Given the description of an element on the screen output the (x, y) to click on. 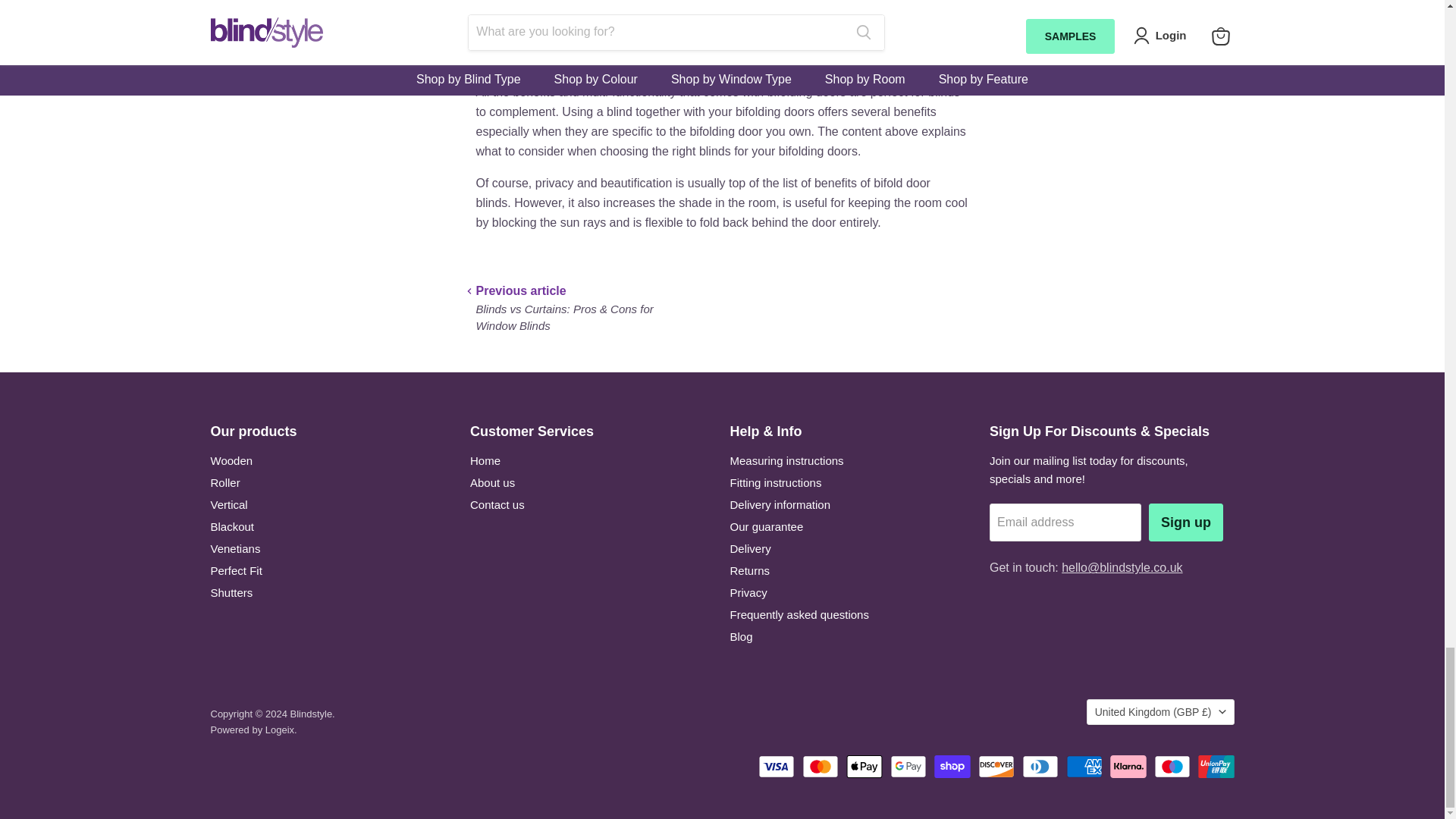
Shop Pay (952, 766)
Discover (996, 766)
Google Pay (907, 766)
Diners Club (1040, 766)
American Express (1083, 766)
Visa (776, 766)
Mastercard (820, 766)
Apple Pay (863, 766)
